Given the description of an element on the screen output the (x, y) to click on. 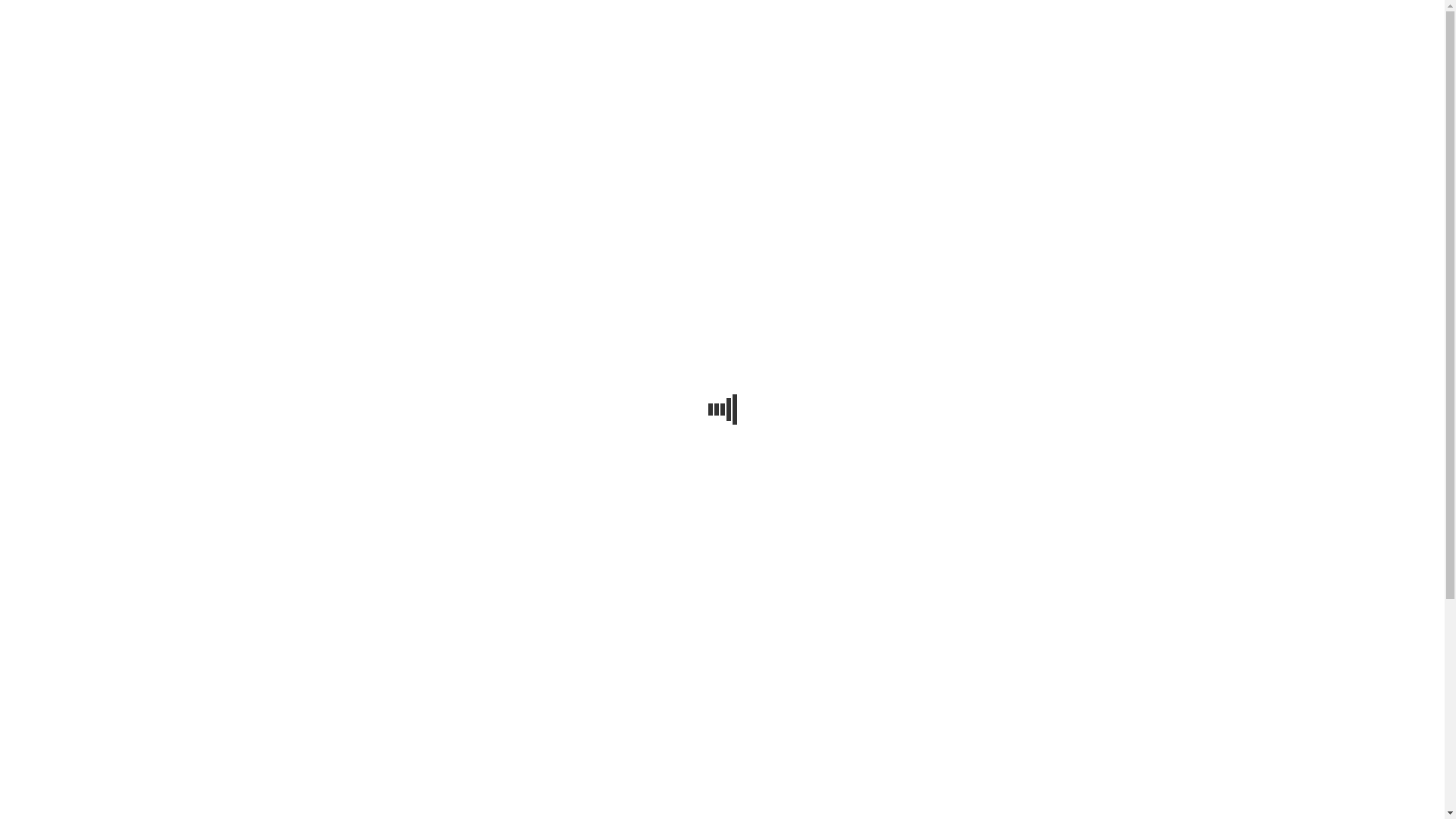
Advertisement Element type: hover (721, 206)
Goroda.by Element type: text (1124, 17)
